Given the description of an element on the screen output the (x, y) to click on. 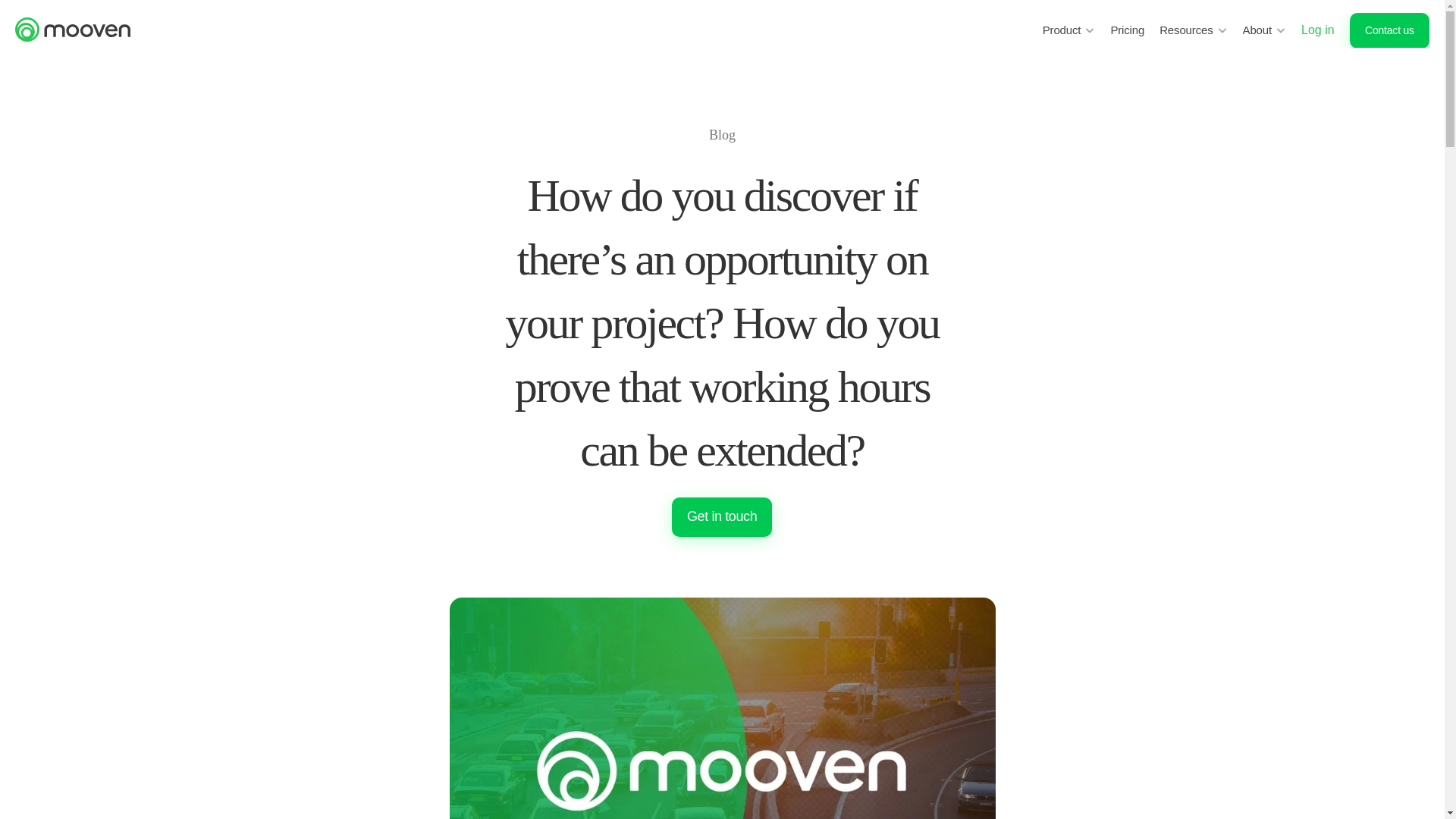
Get in touch (721, 517)
Blog (722, 134)
Contact us (1389, 30)
Pricing (1126, 29)
Log in (1318, 29)
